Given the description of an element on the screen output the (x, y) to click on. 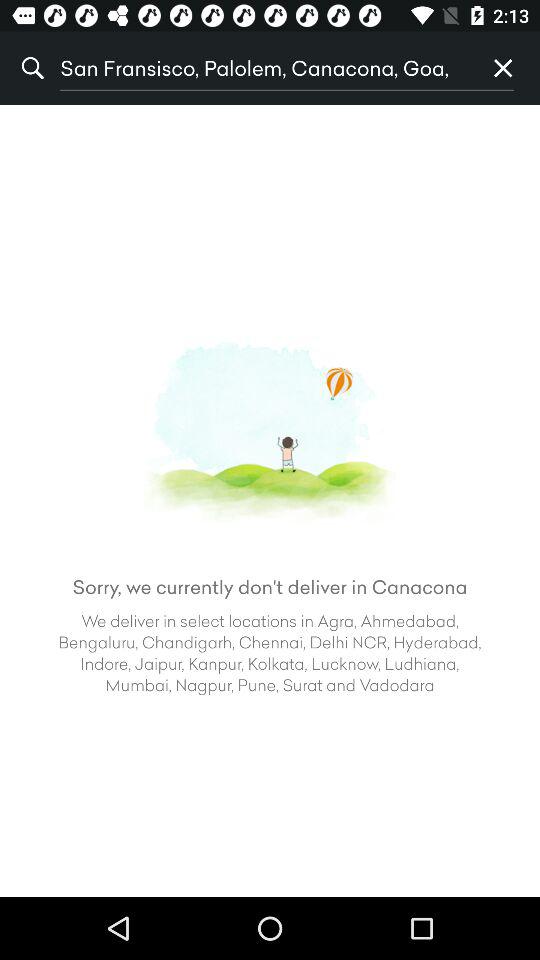
tap icon above sorry we currently item (503, 68)
